Given the description of an element on the screen output the (x, y) to click on. 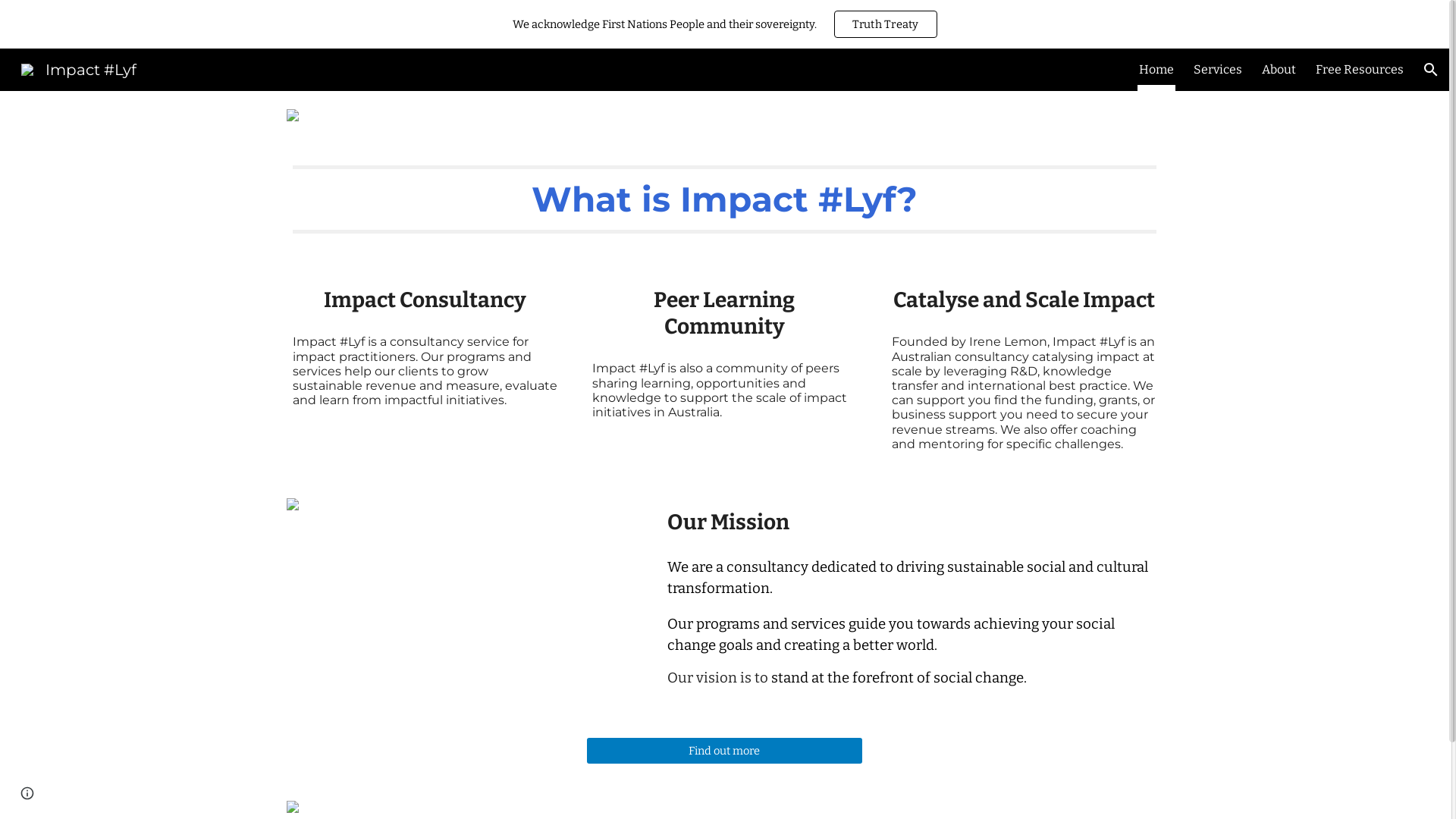
Free Resources Element type: text (1359, 69)
Find out more Element type: text (724, 750)
Home Element type: text (1156, 69)
Impact #Lyf Element type: text (78, 68)
Services Element type: text (1217, 69)
About Element type: text (1278, 69)
Truth Treaty Element type: text (884, 24)
